Given the description of an element on the screen output the (x, y) to click on. 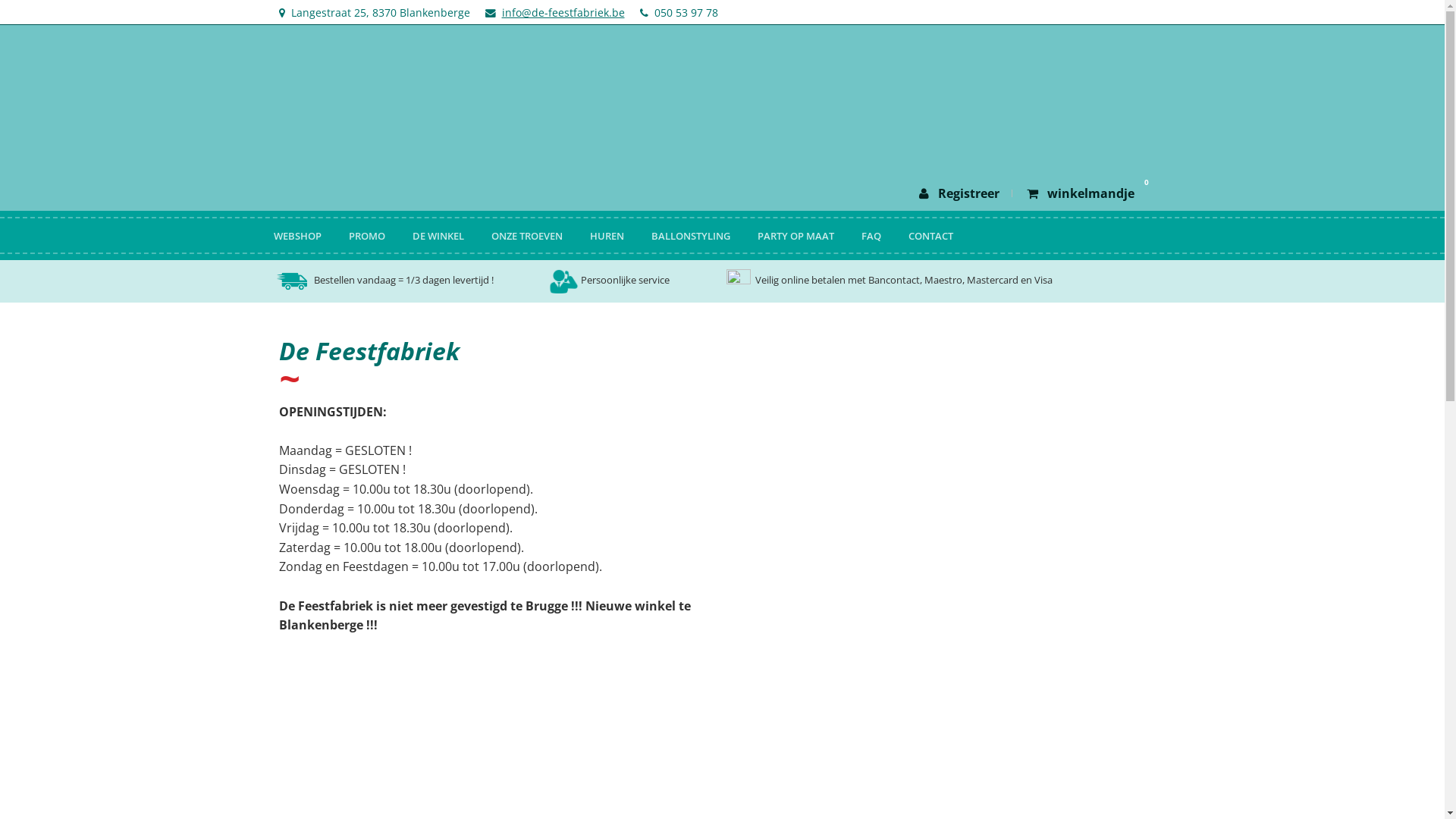
info@de-feestfabriek.be Element type: text (563, 12)
WEBSHOP Element type: text (296, 235)
FAQ Element type: text (871, 235)
ONZE TROEVEN Element type: text (526, 235)
winkelmandje
0 Element type: text (1080, 193)
PROMO Element type: text (366, 235)
PARTY OP MAAT Element type: text (794, 235)
CONTACT Element type: text (930, 235)
Registreer Element type: text (958, 193)
HUREN Element type: text (606, 235)
DE WINKEL Element type: text (438, 235)
BALLONSTYLING Element type: text (689, 235)
